Given the description of an element on the screen output the (x, y) to click on. 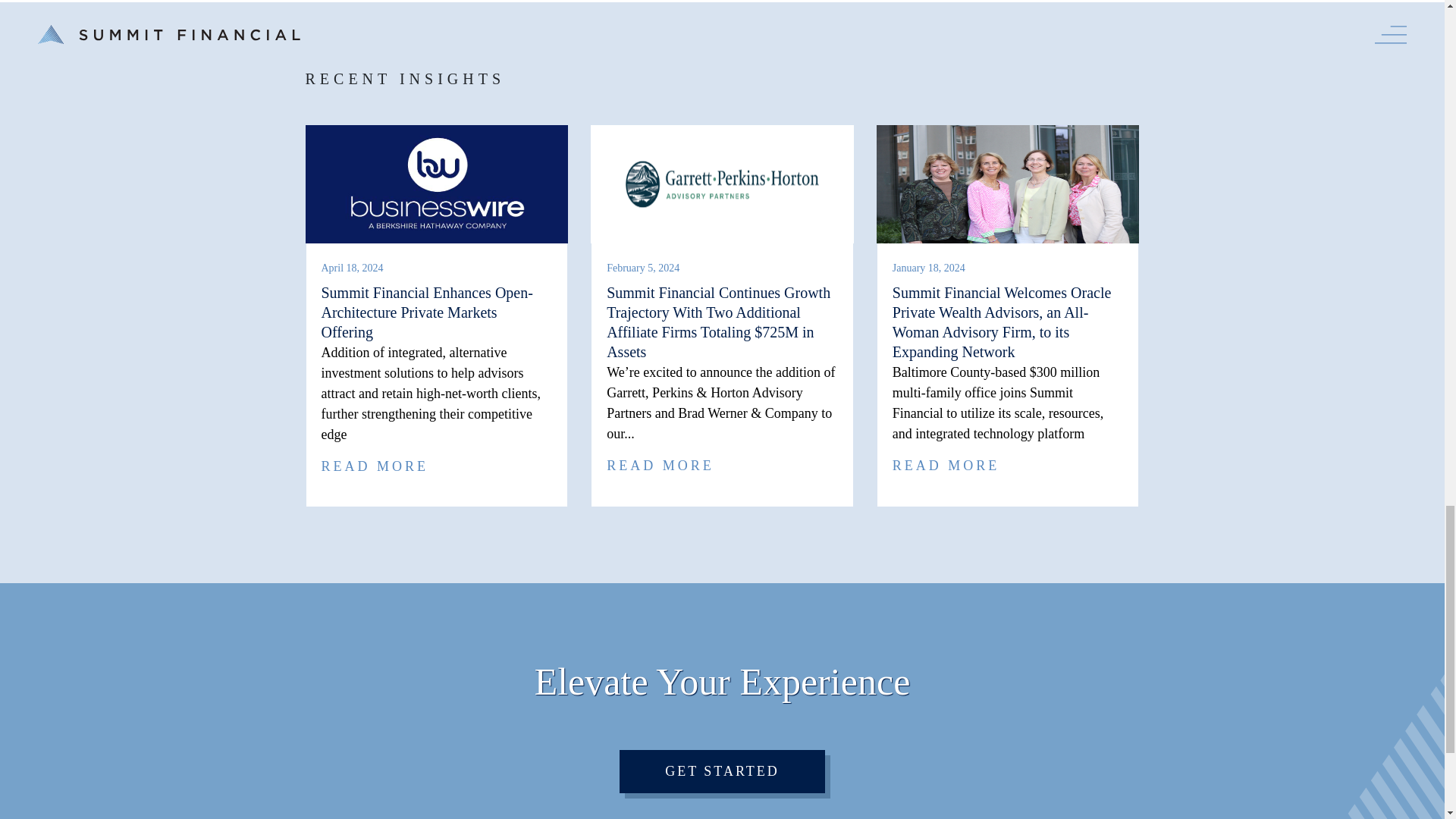
READ MORE (660, 465)
READ MORE (375, 466)
GET STARTED (722, 771)
READ MORE (946, 465)
